Given the description of an element on the screen output the (x, y) to click on. 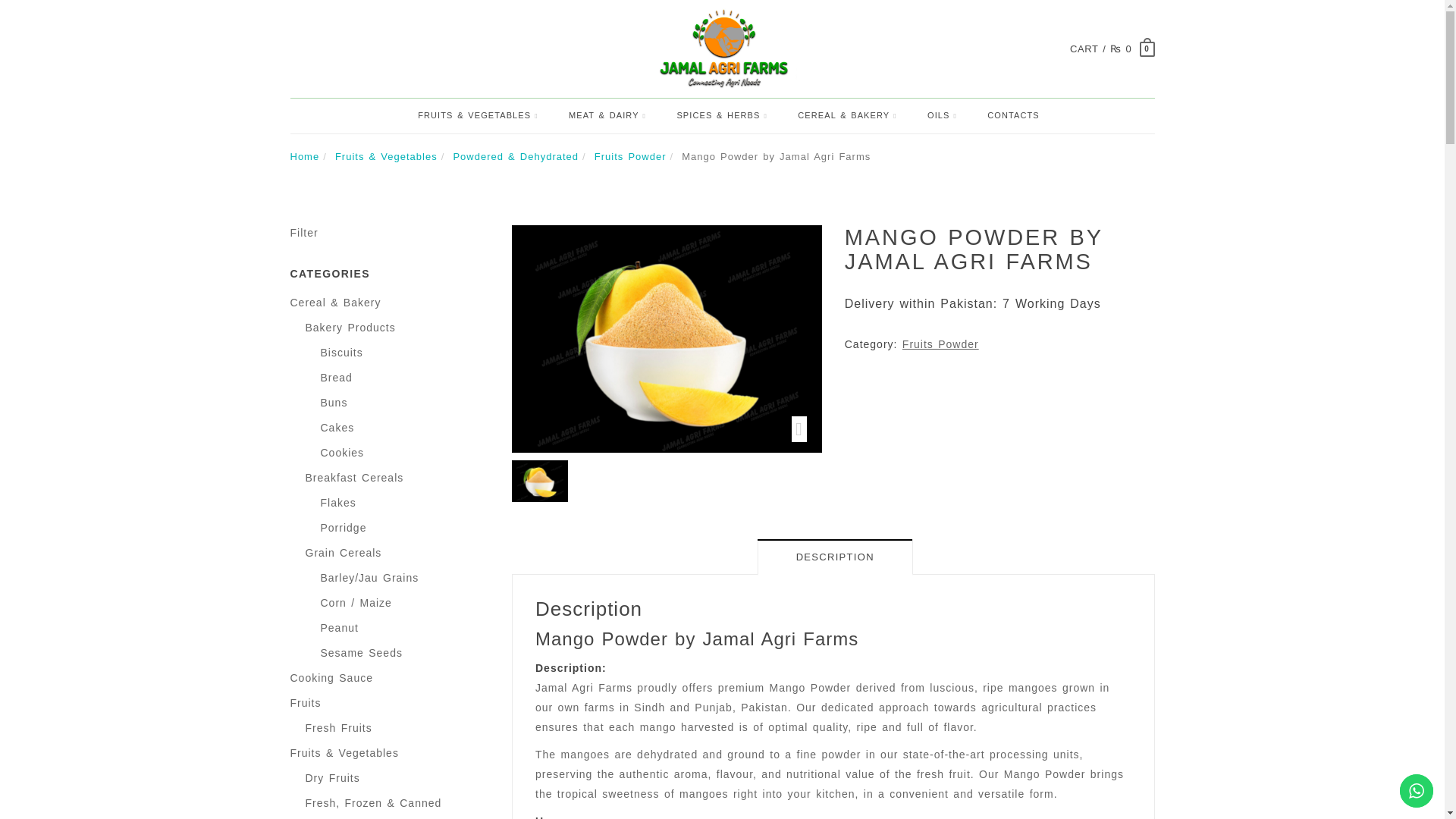
0 (1146, 48)
5 (539, 481)
View your shopping cart (1101, 50)
